Given the description of an element on the screen output the (x, y) to click on. 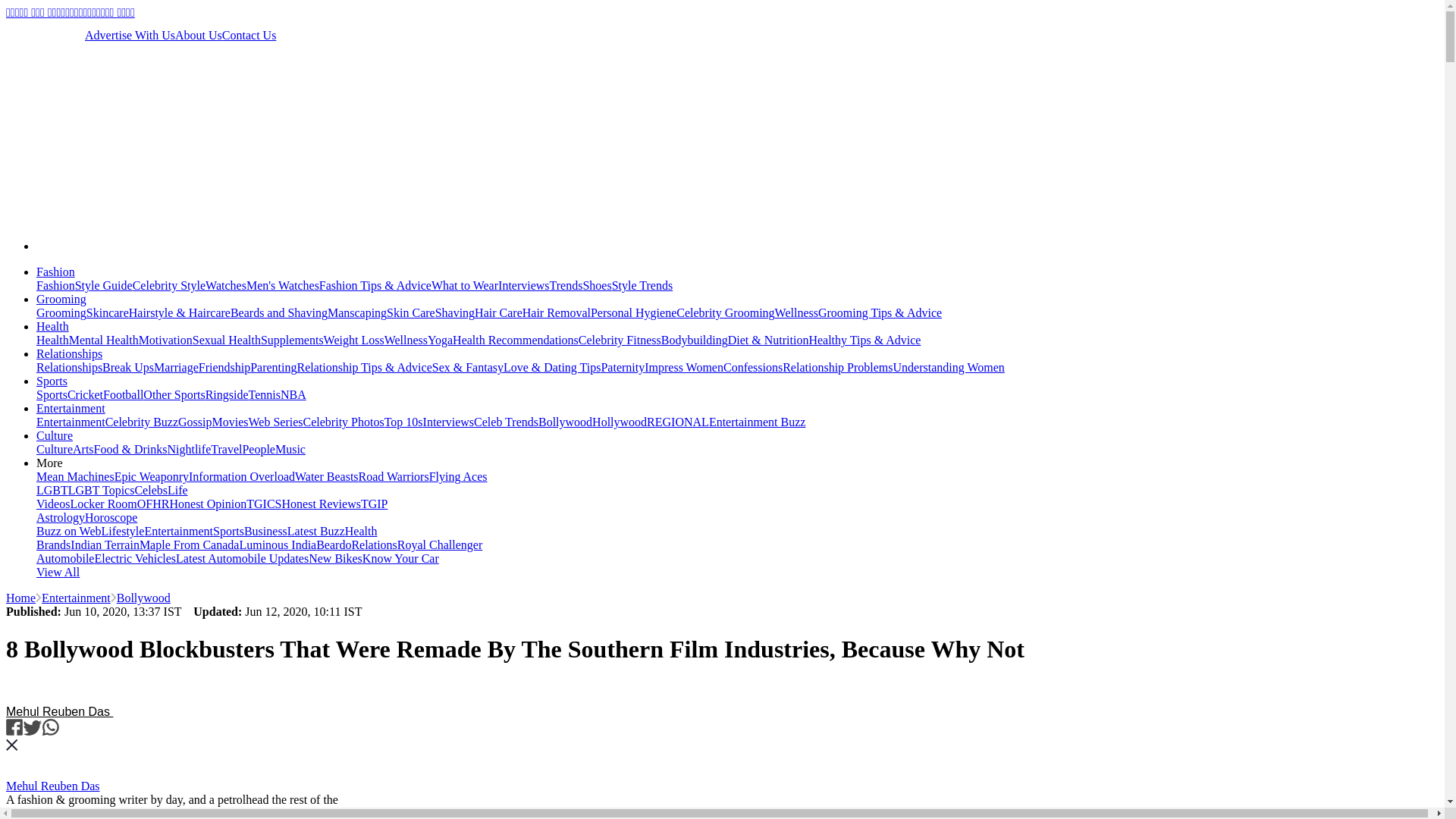
Grooming (60, 298)
Contact Us (249, 34)
Style Trends (641, 285)
Fashion (55, 285)
Shoes (596, 285)
Hair Care (498, 312)
Interviews (523, 285)
What to Wear (463, 285)
Hair Removal (556, 312)
Advertise With Us (129, 34)
About Us (198, 34)
Shaving (454, 312)
Fashion (55, 271)
Contact Us  (249, 34)
About Us (198, 34)
